Given the description of an element on the screen output the (x, y) to click on. 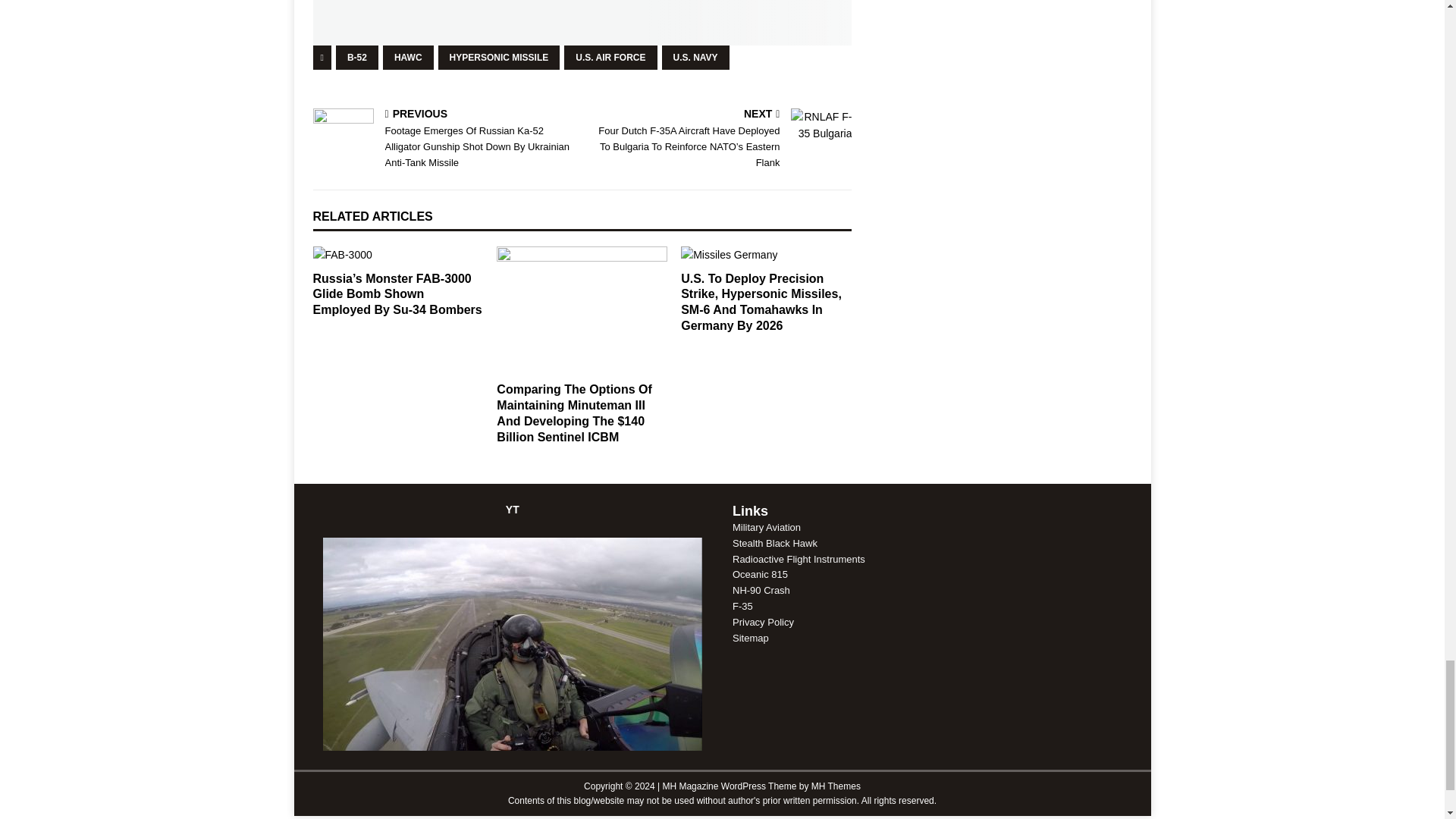
U.S. NAVY (695, 57)
HYPERSONIC MISSILE (499, 57)
HAWC (407, 57)
B-52 (357, 57)
U.S. AIR FORCE (610, 57)
